Given the description of an element on the screen output the (x, y) to click on. 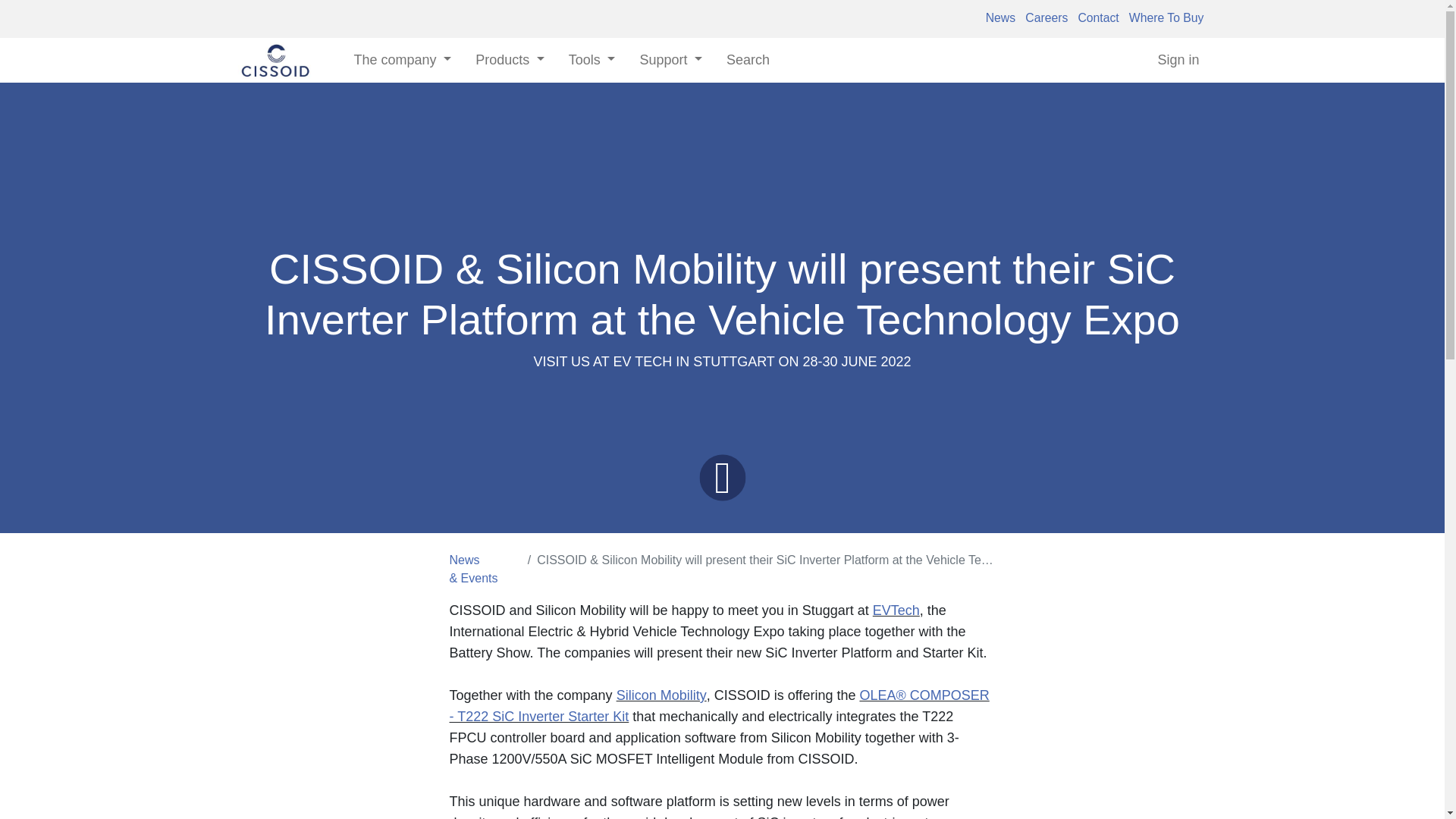
  Contact (1095, 17)
  Careers (1043, 17)
The company (401, 59)
Products (509, 59)
Cissoid (274, 60)
  Where To Buy (1163, 17)
News (999, 17)
